Given the description of an element on the screen output the (x, y) to click on. 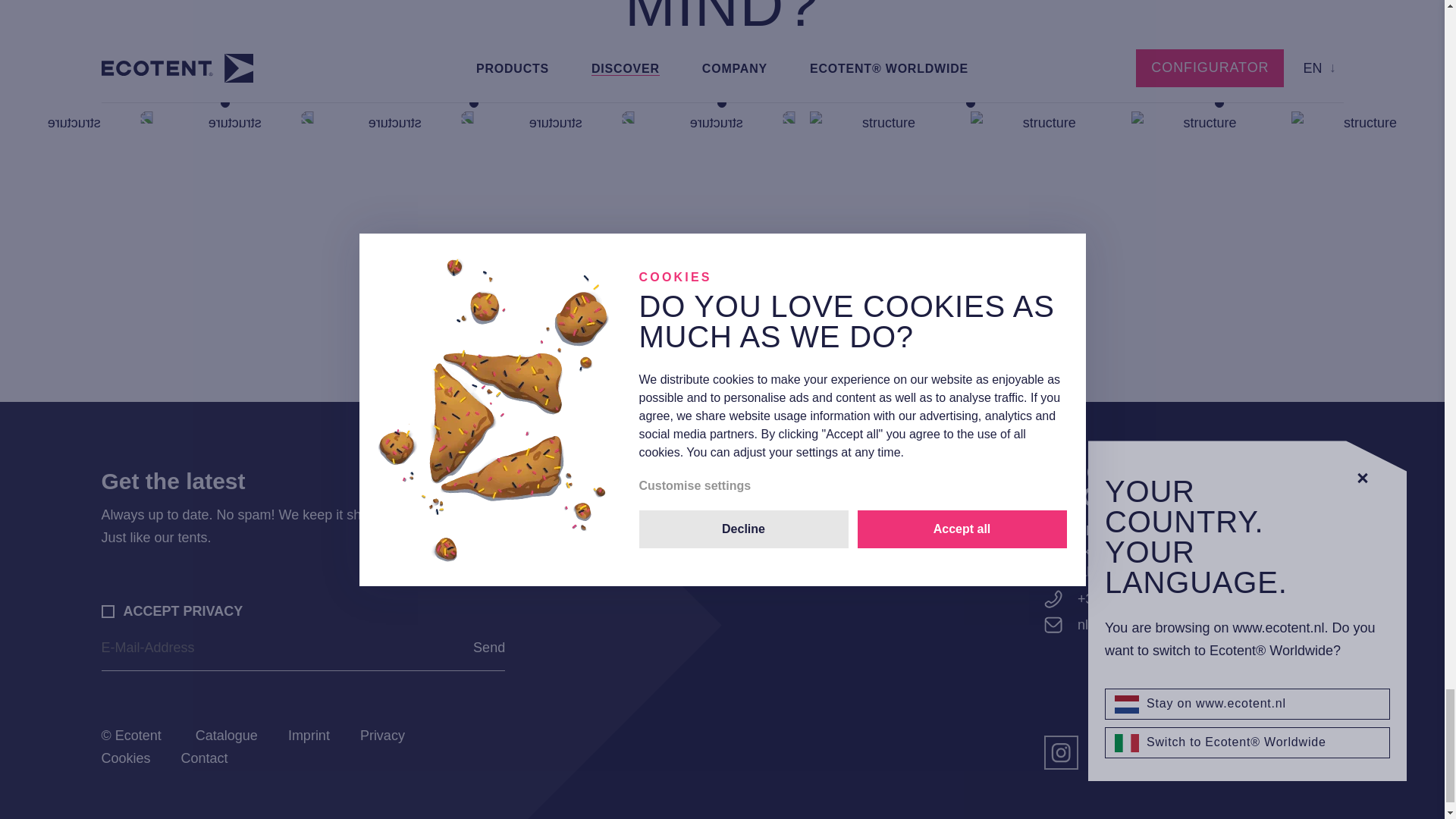
on (108, 611)
